Given the description of an element on the screen output the (x, y) to click on. 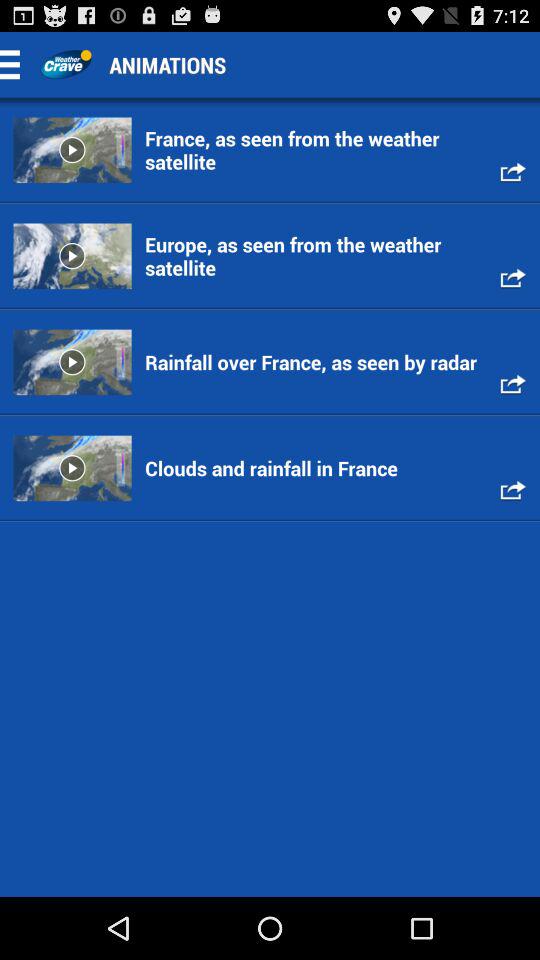
bring up a user (65, 64)
